Given the description of an element on the screen output the (x, y) to click on. 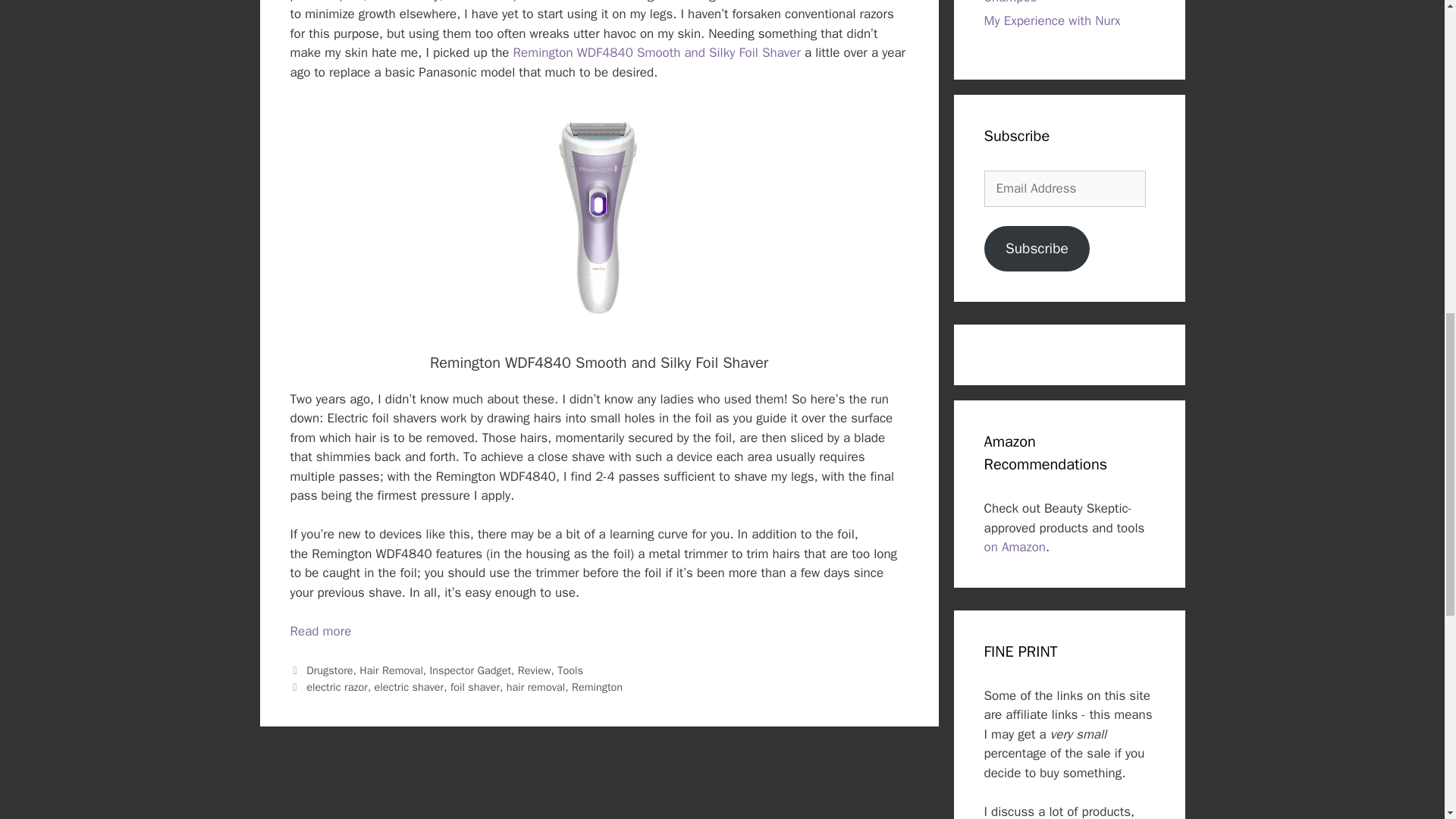
Remington (597, 686)
on Amazon (1015, 546)
Drugstore (328, 670)
Remington WDF4840 Smooth and Silky Foil Shaver (656, 52)
Tools (570, 670)
Inspector Gadget (470, 670)
Subscribe (1037, 248)
foil shaver (474, 686)
hair removal (536, 686)
electric shaver (409, 686)
Review (534, 670)
Hair Removal (391, 670)
Read more (319, 631)
electric razor (336, 686)
My Experience with Nurx (1052, 19)
